Given the description of an element on the screen output the (x, y) to click on. 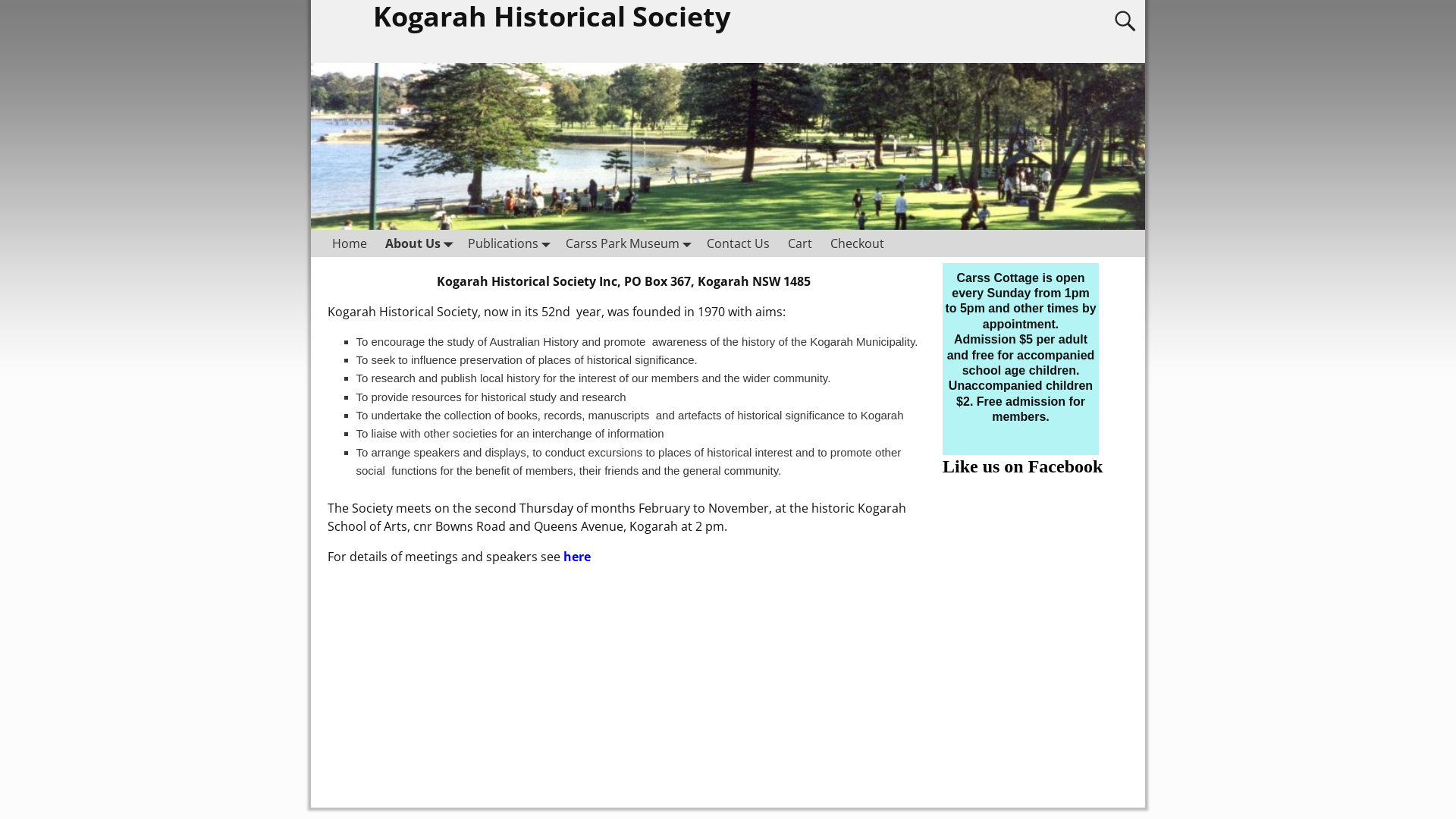
Publications Element type: text (507, 242)
Checkout Element type: text (857, 242)
Carss Park Museum Element type: text (626, 242)
About Us Element type: text (417, 242)
Contact Us Element type: text (737, 242)
here Element type: text (576, 556)
Cart Element type: text (799, 242)
Home Element type: text (349, 242)
